Given the description of an element on the screen output the (x, y) to click on. 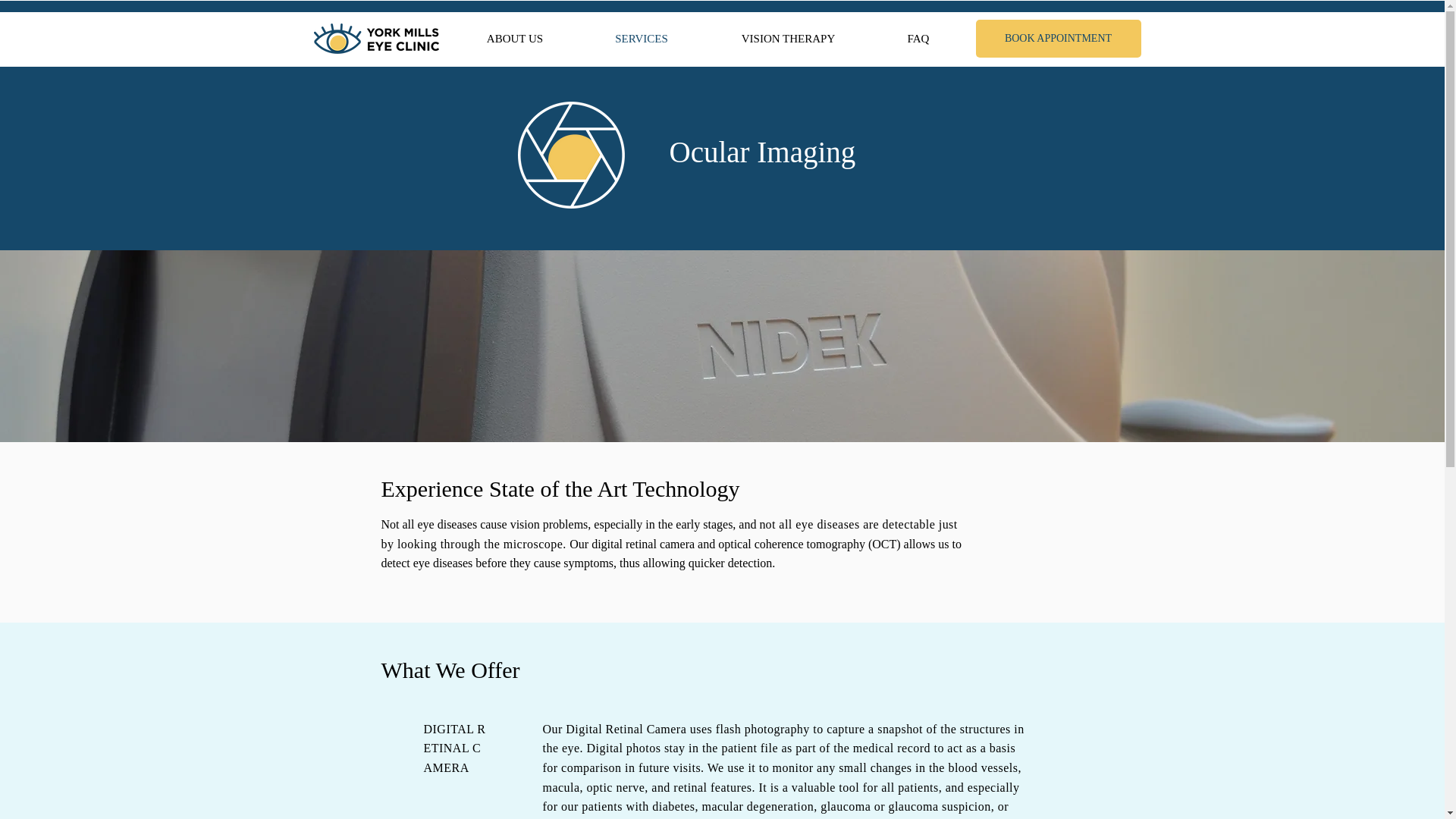
VISION THERAPY (787, 38)
BOOK APPOINTMENT (1057, 38)
SERVICES (641, 38)
ABOUT US (513, 38)
FAQ (917, 38)
